Given the description of an element on the screen output the (x, y) to click on. 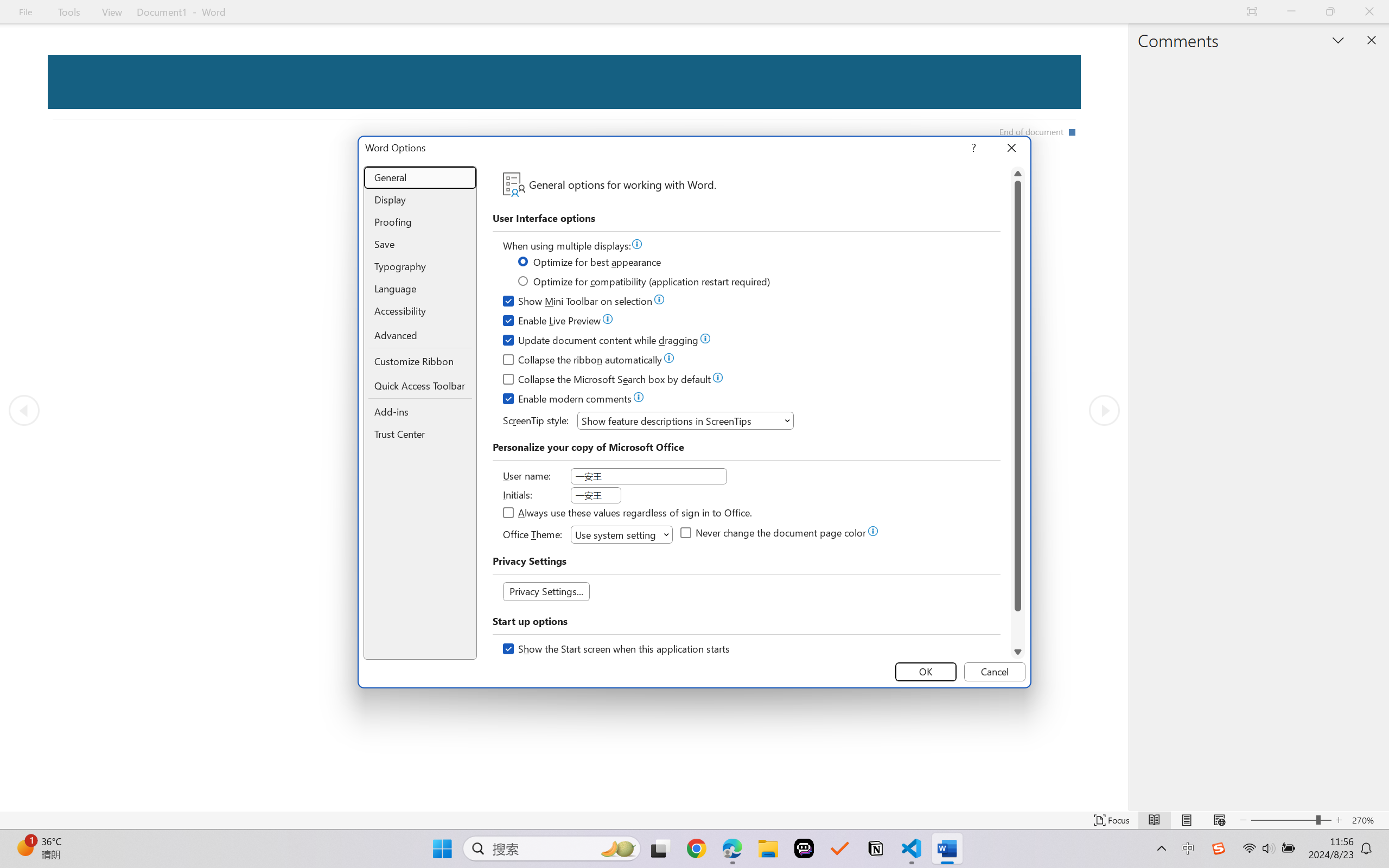
Cancel (994, 671)
Initials (595, 494)
Customize Ribbon (419, 361)
Add-ins (419, 412)
General (419, 177)
Privacy Settings... (546, 591)
Auto-hide Reading Toolbar (1252, 11)
